Given the description of an element on the screen output the (x, y) to click on. 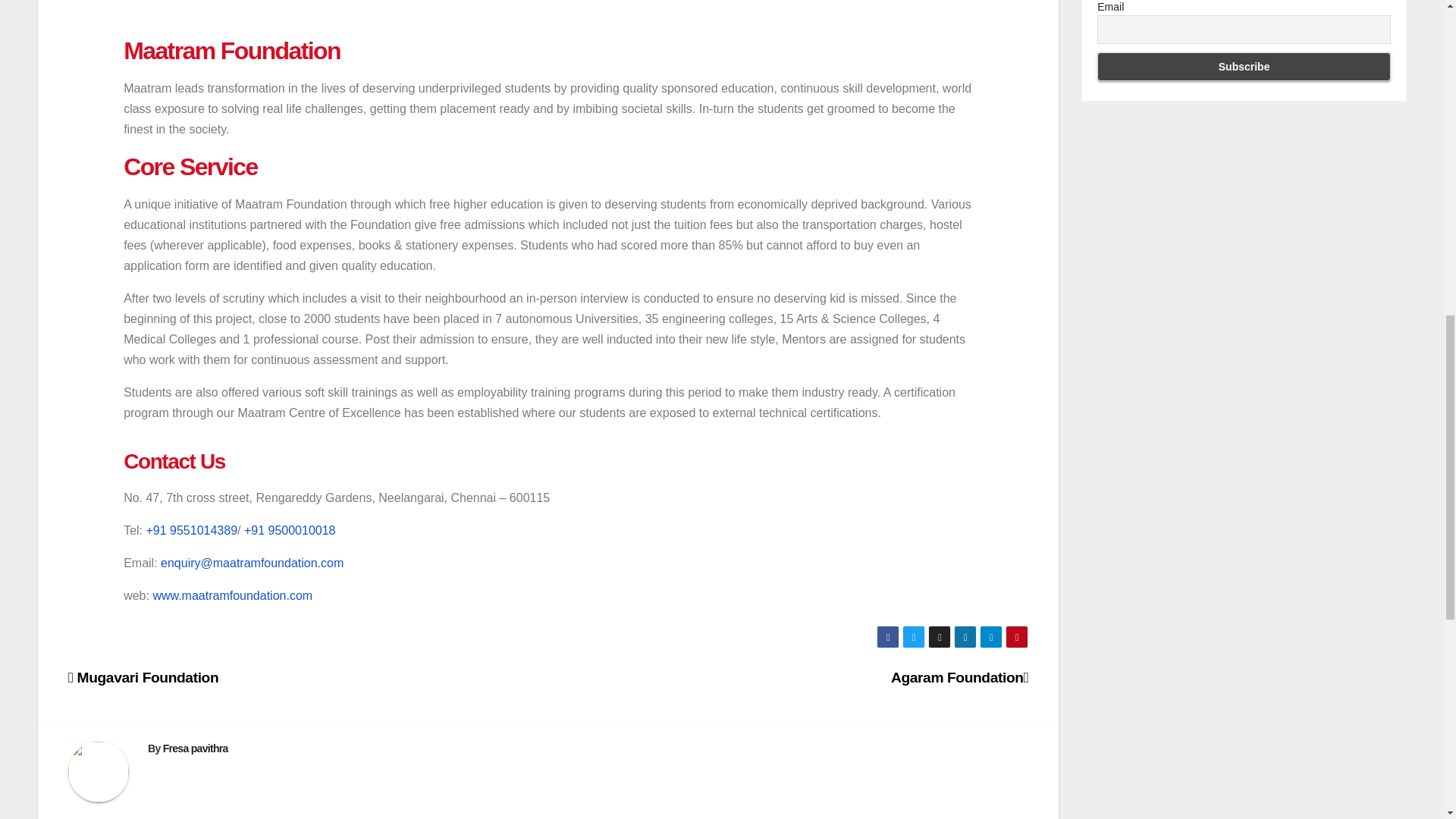
Subscribe (1243, 66)
Fresa pavithra (195, 748)
Mugavari Foundation (143, 677)
www.maatramfoundation.com (232, 594)
Agaram Foundation (959, 677)
